Given the description of an element on the screen output the (x, y) to click on. 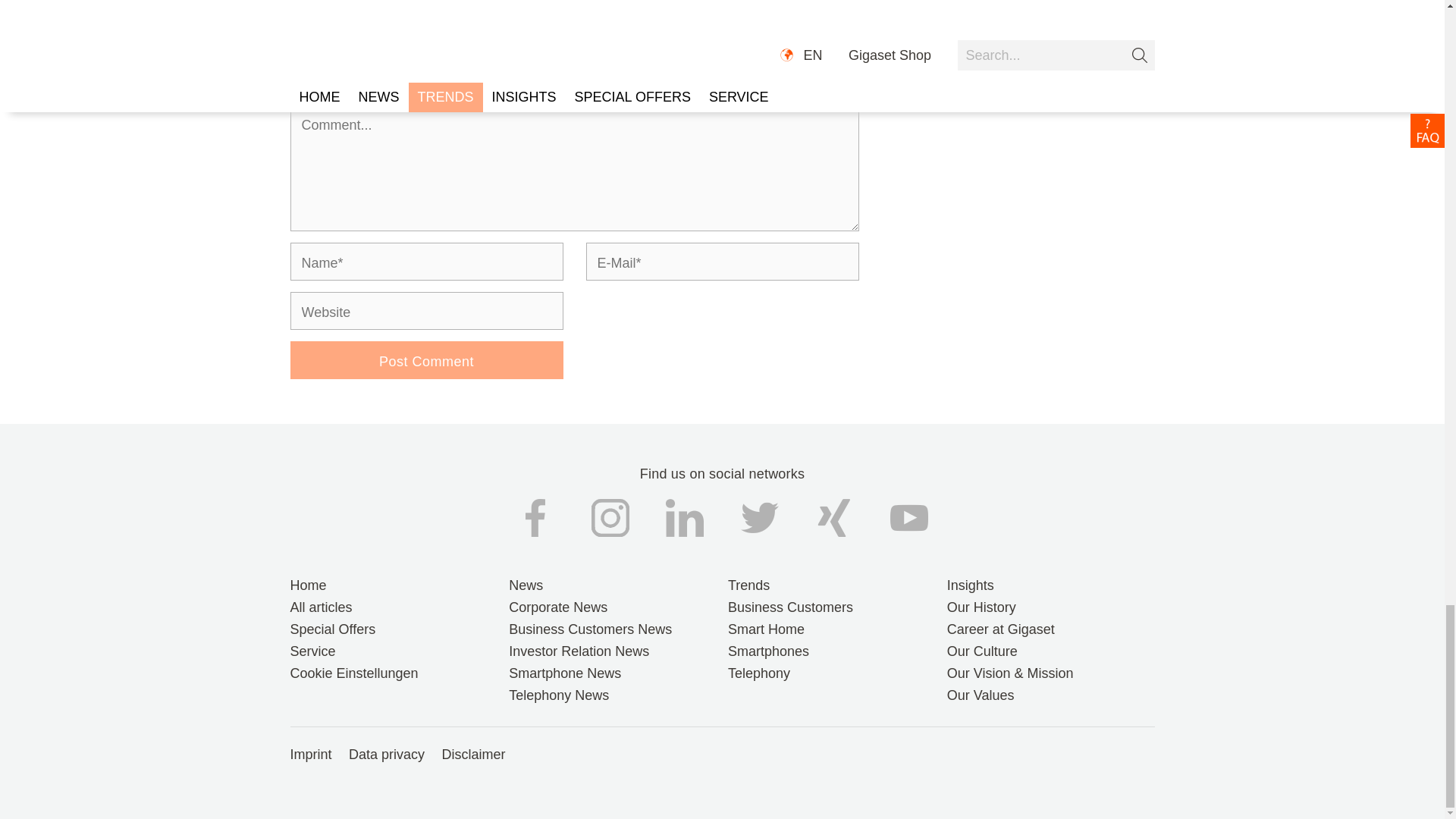
Post Comment (425, 360)
